Given the description of an element on the screen output the (x, y) to click on. 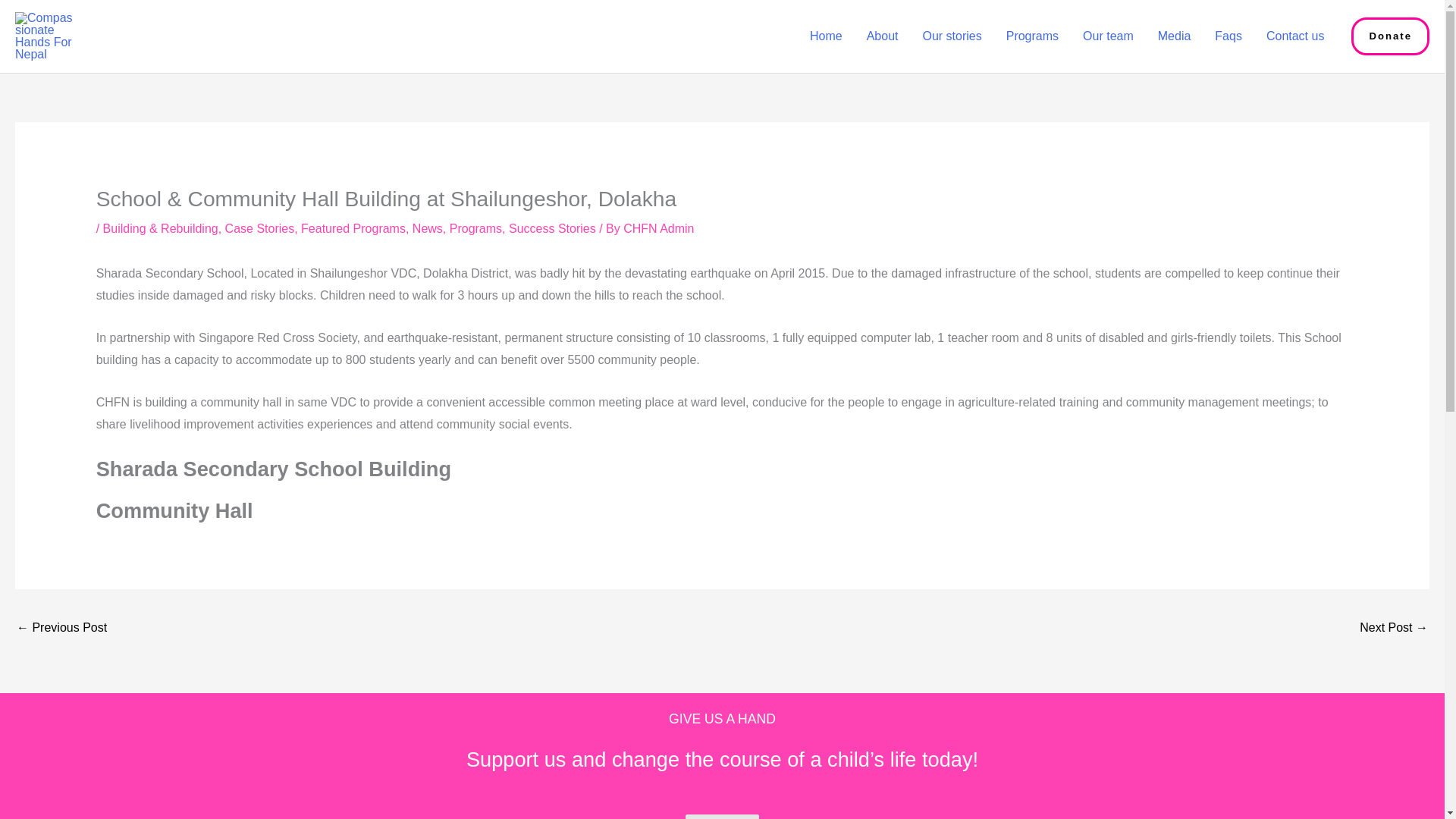
Programs (1032, 36)
Free Medical Camp Dolkha (61, 628)
Our team (1107, 36)
About (882, 36)
Medical Camp - Okhaldhunga (1393, 628)
Donate (1390, 36)
Our stories (951, 36)
Contact us (1294, 36)
Media (1174, 36)
Faqs (1227, 36)
